Given the description of an element on the screen output the (x, y) to click on. 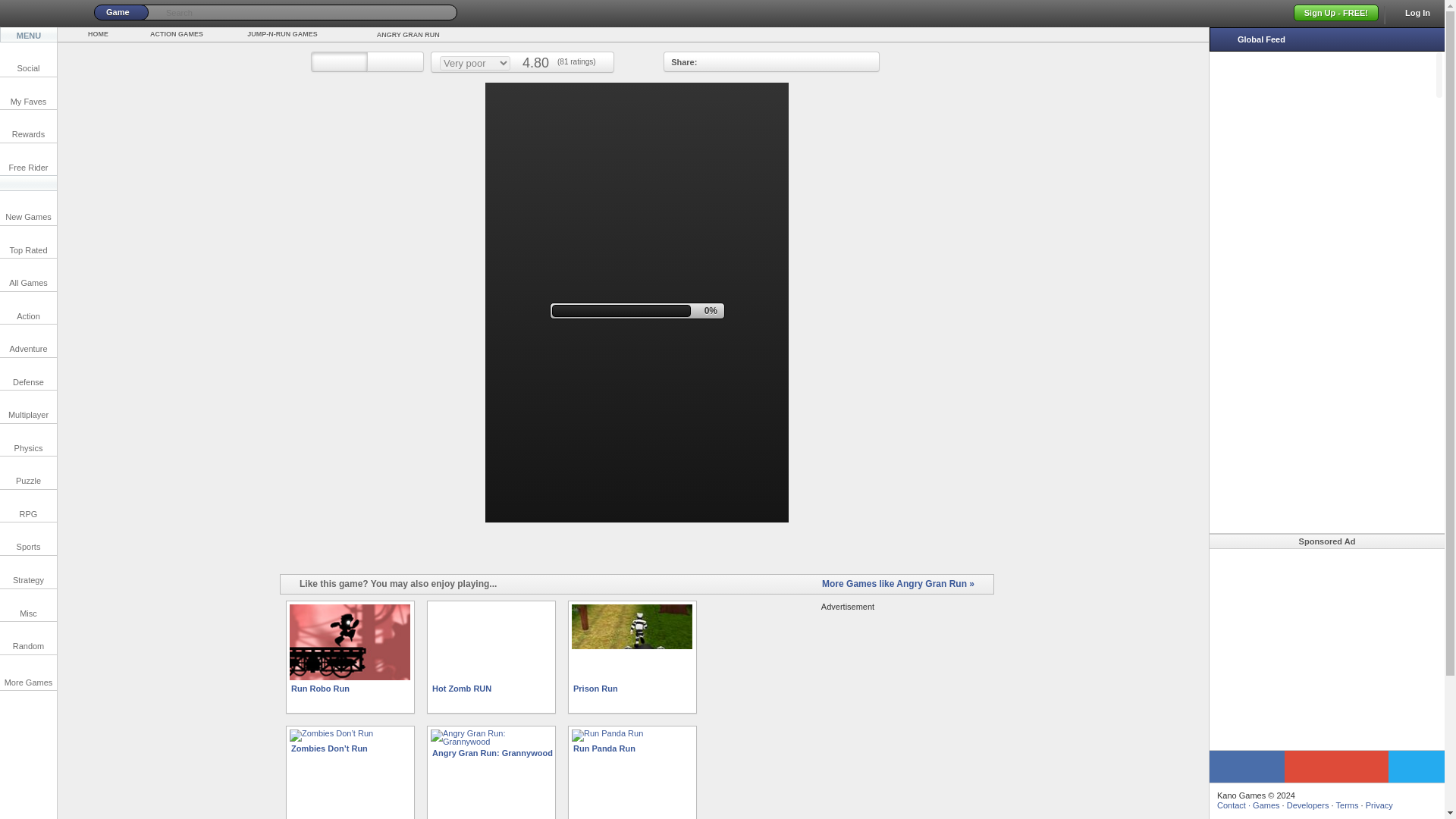
Adventure (28, 340)
Random (28, 637)
Rewards (28, 125)
RPG (28, 505)
Physics (28, 440)
Action (28, 307)
Misc (28, 604)
Top Rated (28, 242)
Multiplayer (28, 406)
Defense (28, 373)
